Given the description of an element on the screen output the (x, y) to click on. 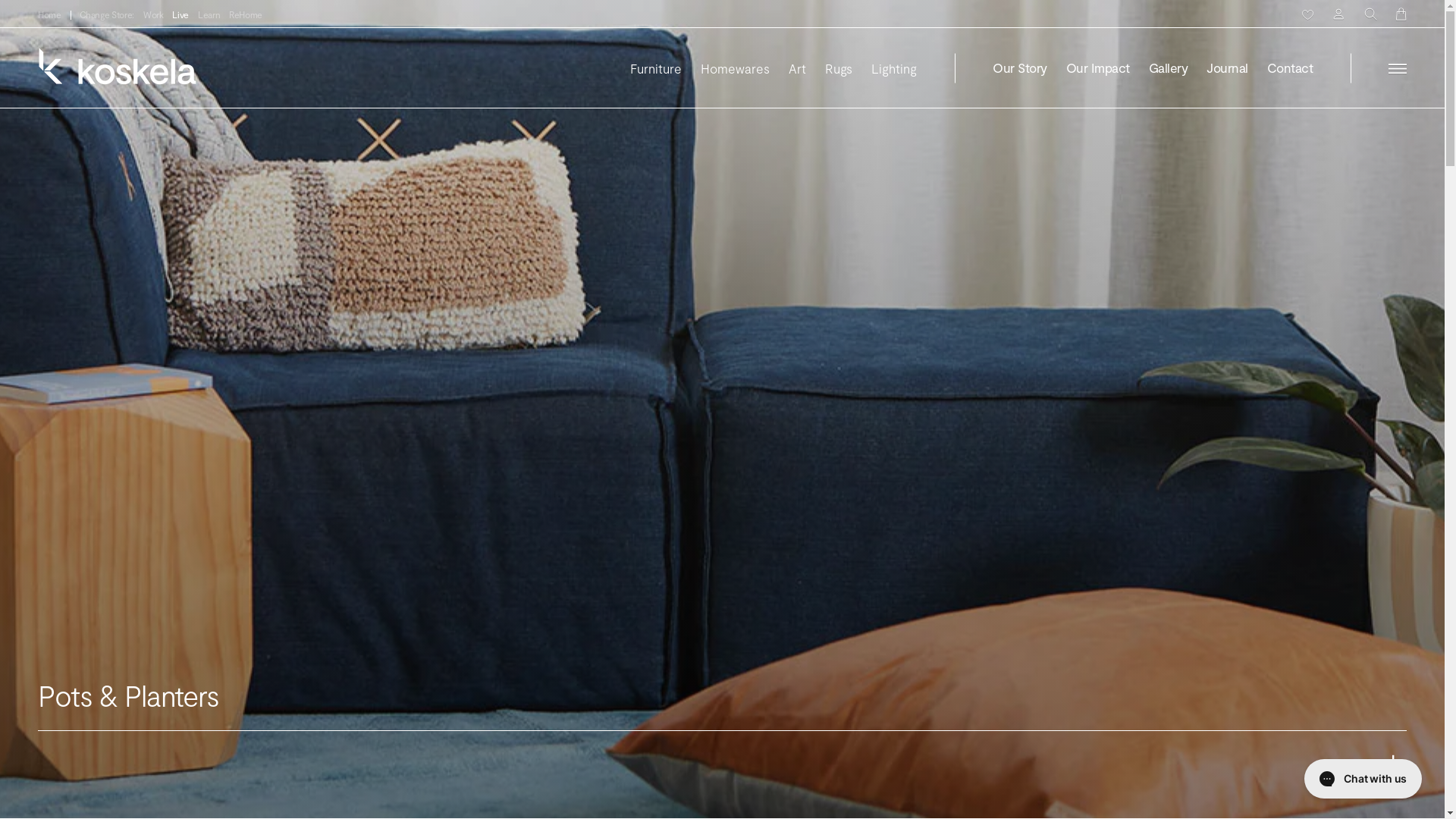
ReHome Element type: text (245, 14)
Lighting
Lighting Element type: text (893, 67)
-> Element type: text (1390, 768)
Rugs
Rugs Element type: text (838, 67)
Furniture
Furniture Element type: text (655, 67)
Gorgias live chat messenger Element type: hover (1362, 778)
Contact
Contact Element type: text (1289, 67)
Live Element type: text (180, 14)
Work Element type: text (153, 14)
Learn Element type: text (208, 14)
Gallery
Gallery Element type: text (1167, 67)
Journal
Journal Element type: text (1226, 67)
Art
Art Element type: text (797, 67)
Homewares
Homewares Element type: text (734, 67)
Home Element type: text (49, 14)
Our Story
Our Story Element type: text (1019, 67)
Our Impact
Our Impact Element type: text (1097, 67)
